Given the description of an element on the screen output the (x, y) to click on. 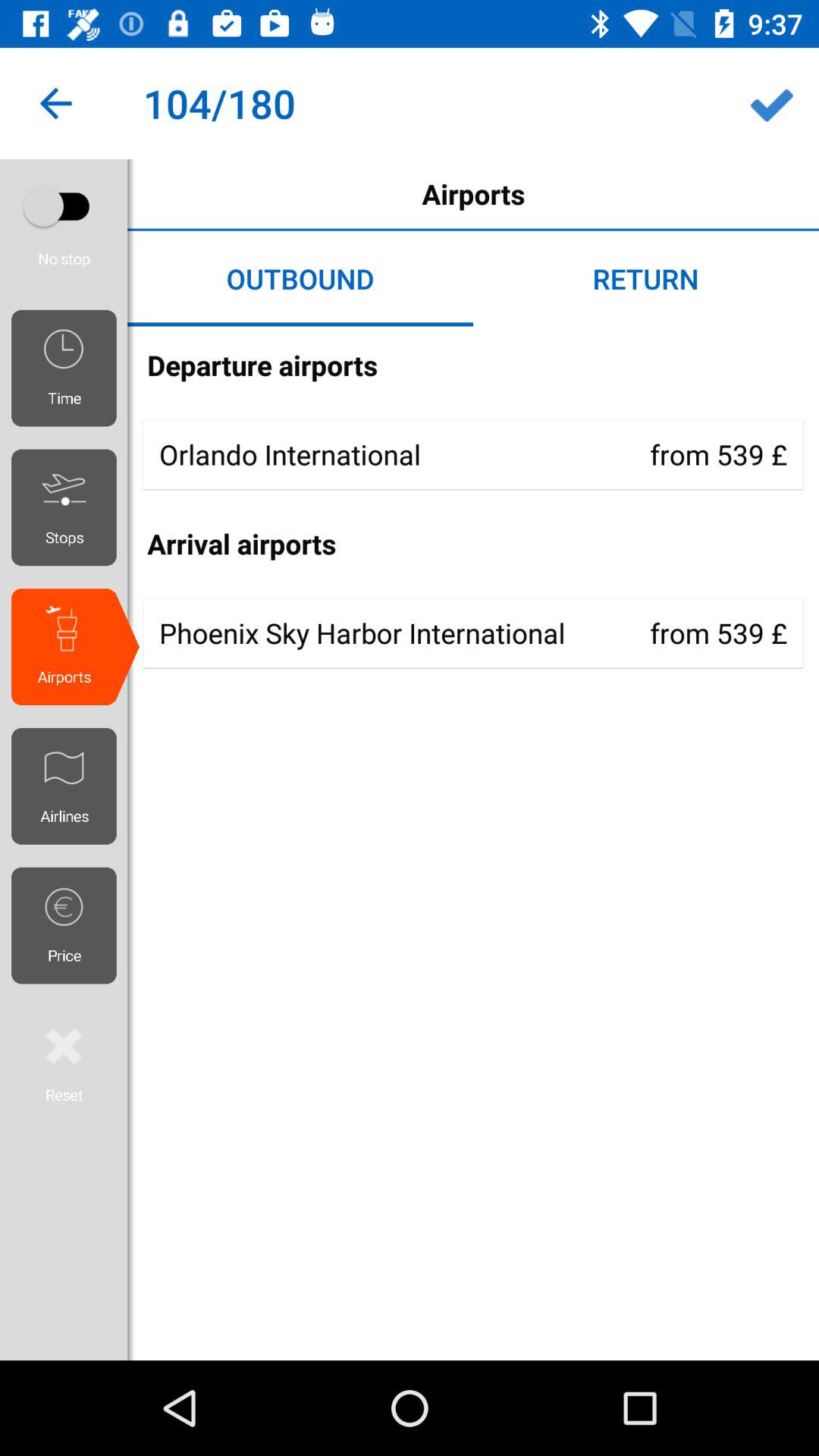
turn on or off switch for layover/stop (63, 206)
